Given the description of an element on the screen output the (x, y) to click on. 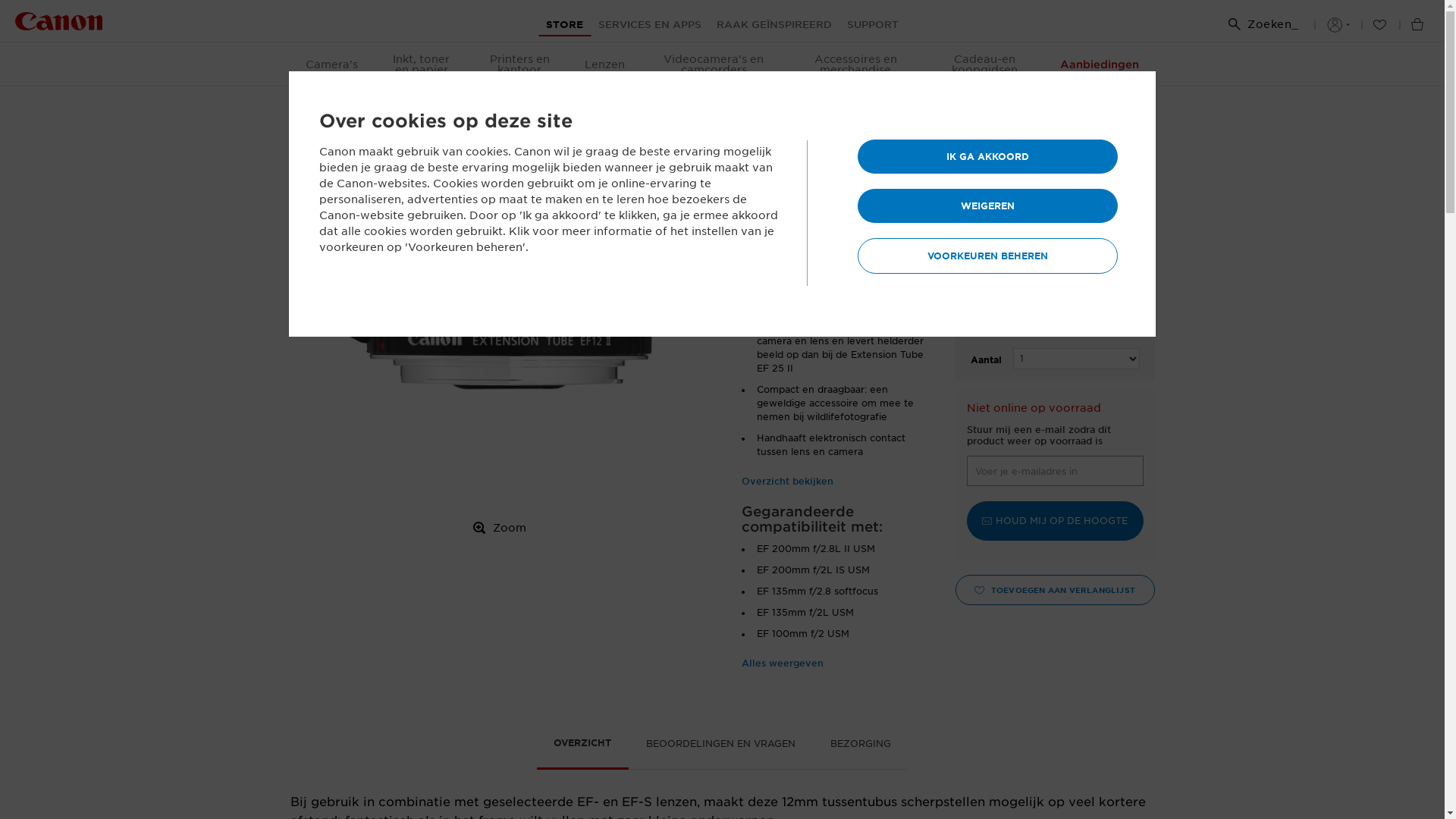
Accessoires en merchandise Element type: text (855, 63)
Cadeau-en koopgidsen Element type: text (984, 63)
Camera's Element type: text (330, 63)
Alles weergeven Element type: text (782, 662)
Lenzen Element type: text (604, 63)
Klantenrecensies bekijken Element type: text (804, 269)
STORE Element type: text (564, 24)
Printers en kantoor Element type: text (519, 63)
SERVICES EN APPS Element type: text (649, 24)
Home Element type: text (306, 104)
Overzicht bekijken Element type: text (787, 480)
Zoom Element type: text (500, 527)
My Basket Element type: text (1417, 27)
Lensaccessoires Element type: text (523, 104)
Webshop Element type: text (364, 104)
HOUD MIJ OP DE HOOGTE Element type: text (1054, 520)
Canon Belgie Store Element type: text (58, 23)
OVERZICHT Element type: text (582, 747)
Videocamera's en camcorders Element type: text (713, 63)
BEOORDELINGEN EN VRAGEN Element type: text (720, 748)
VOORKEUREN BEHEREN Element type: text (987, 255)
WEIGEREN Element type: text (987, 205)
Accessoires Element type: text (436, 104)
My Wishlist Element type: text (1379, 24)
SUPPORT Element type: text (872, 24)
IK GA AKKOORD Element type: text (987, 156)
Inkt, toner en papier Element type: text (421, 63)
Toevoegen aan verlanglijst Element type: text (1207, 589)
BEZORGING Element type: text (860, 748)
Lensadapters, converters & extenders Element type: text (672, 104)
